Given the description of an element on the screen output the (x, y) to click on. 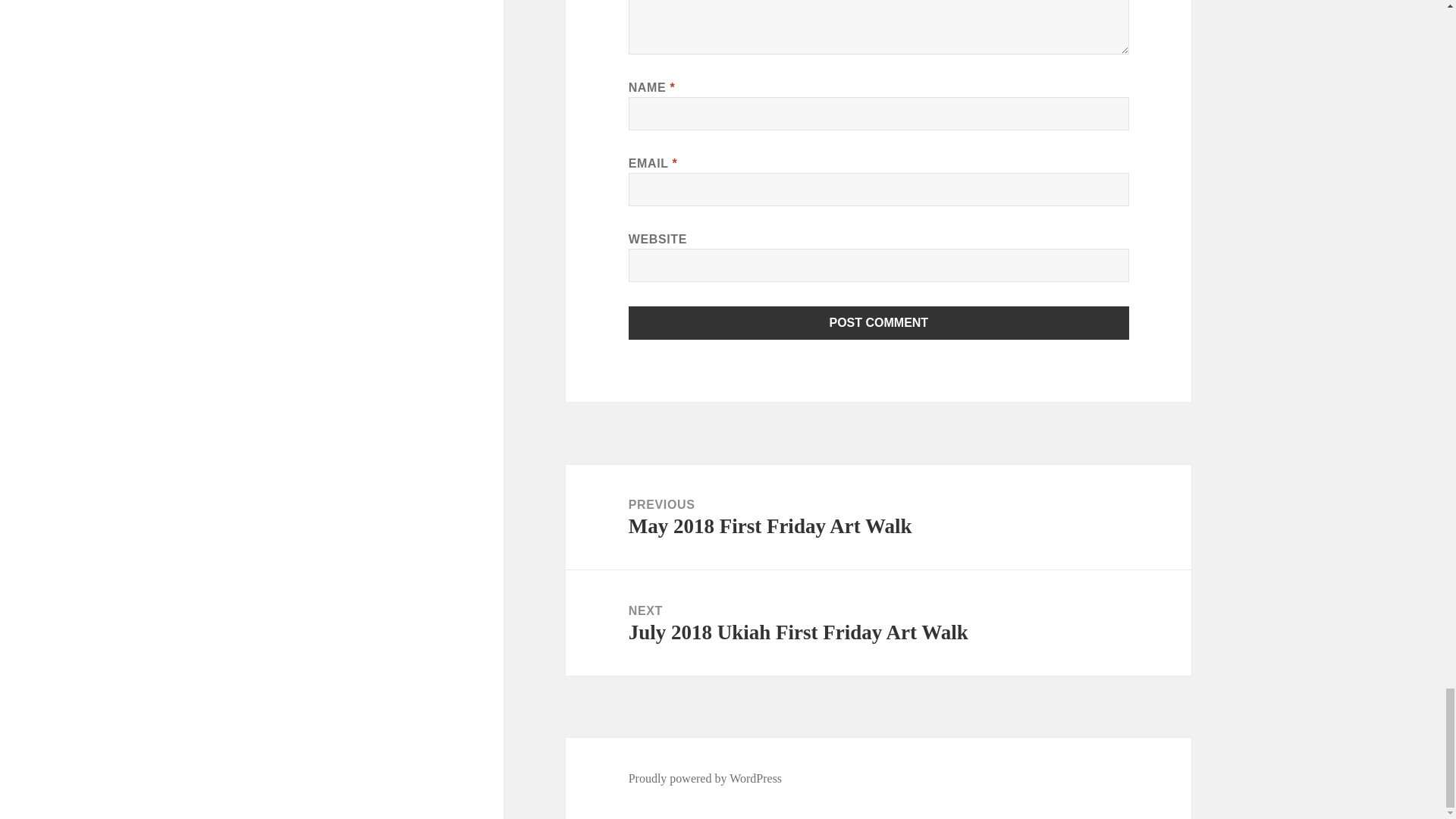
Post Comment (878, 322)
